Given the description of an element on the screen output the (x, y) to click on. 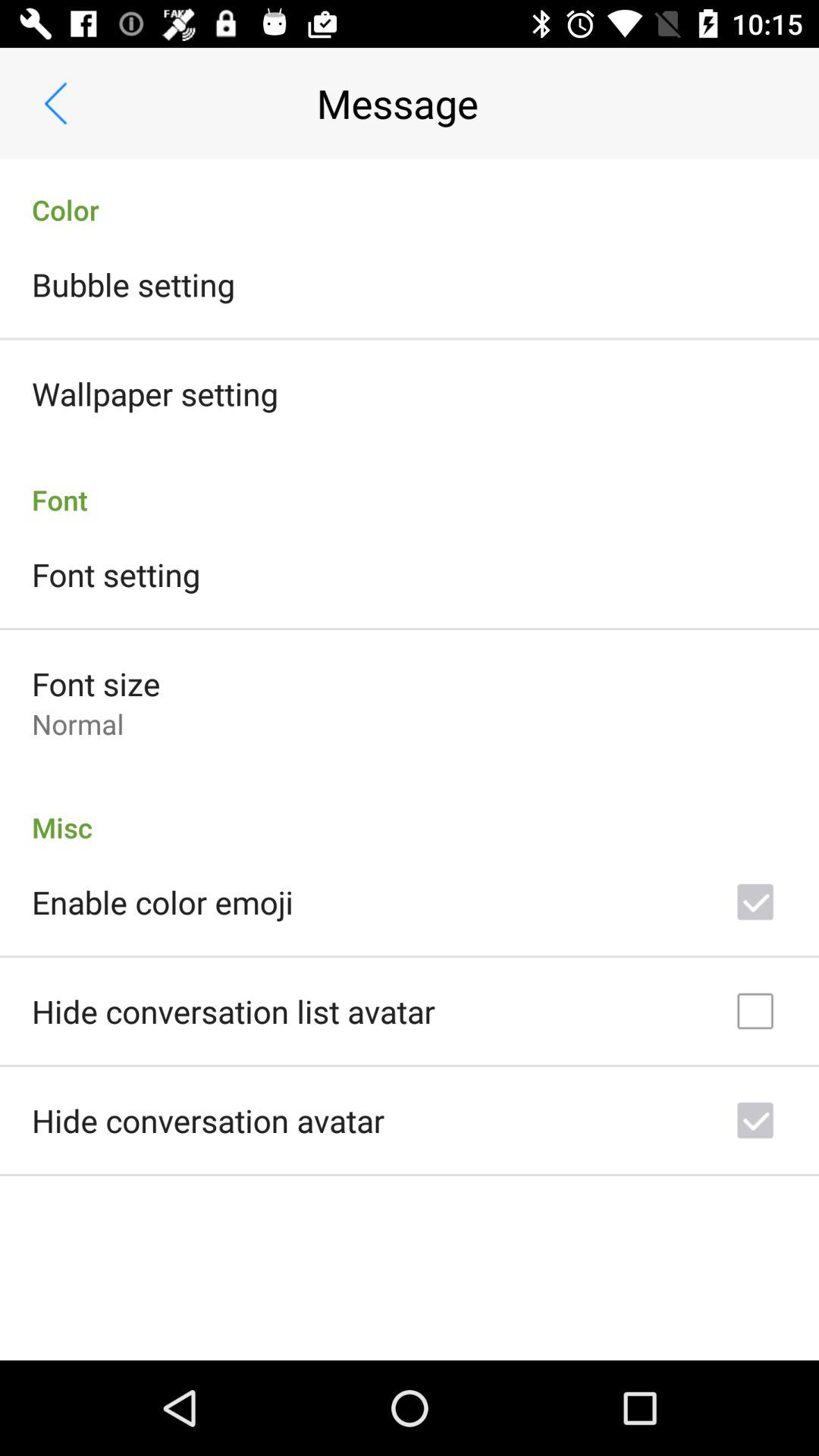
turn off the item above the misc item (77, 723)
